Given the description of an element on the screen output the (x, y) to click on. 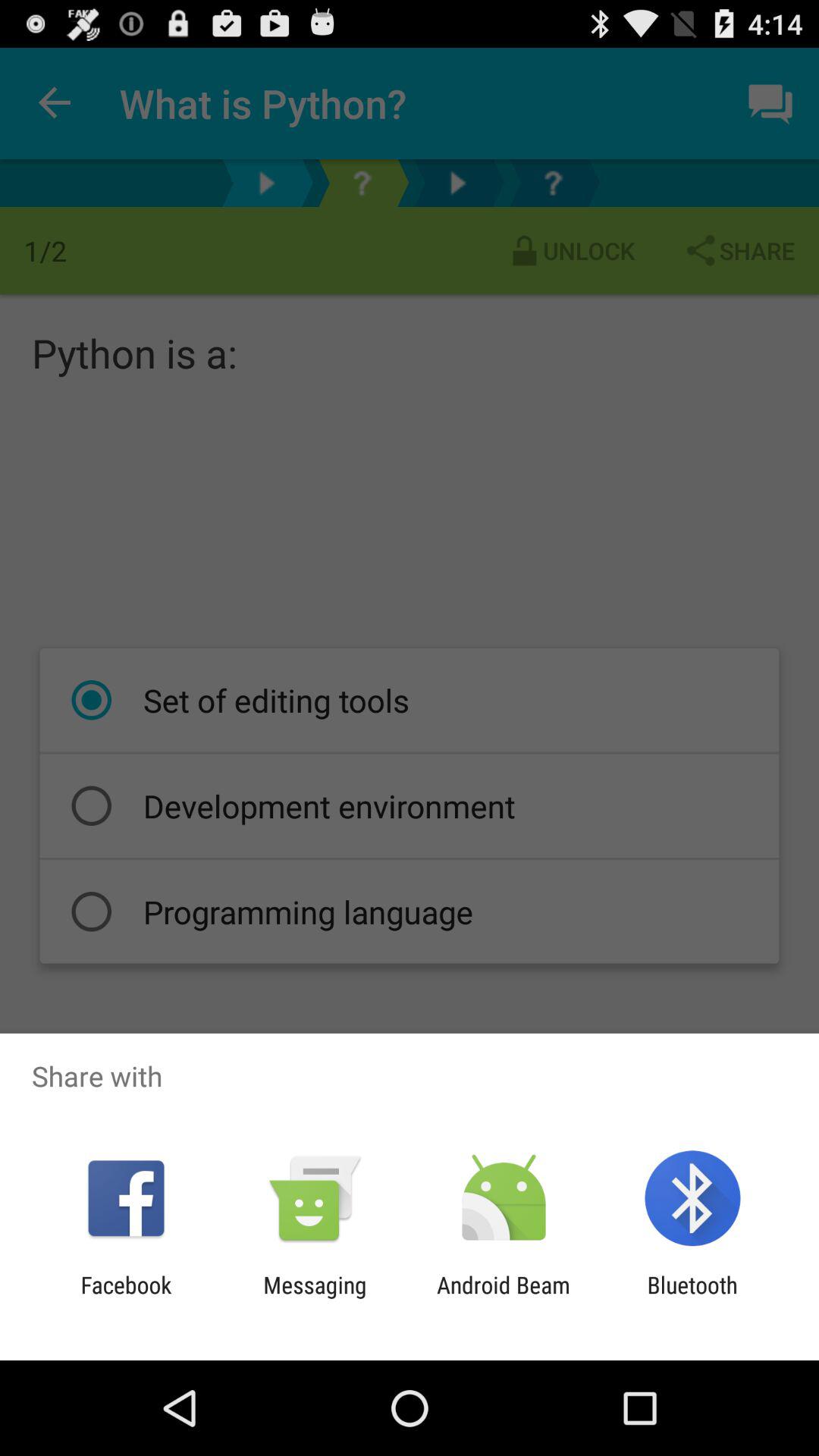
select app to the left of the bluetooth app (503, 1298)
